Given the description of an element on the screen output the (x, y) to click on. 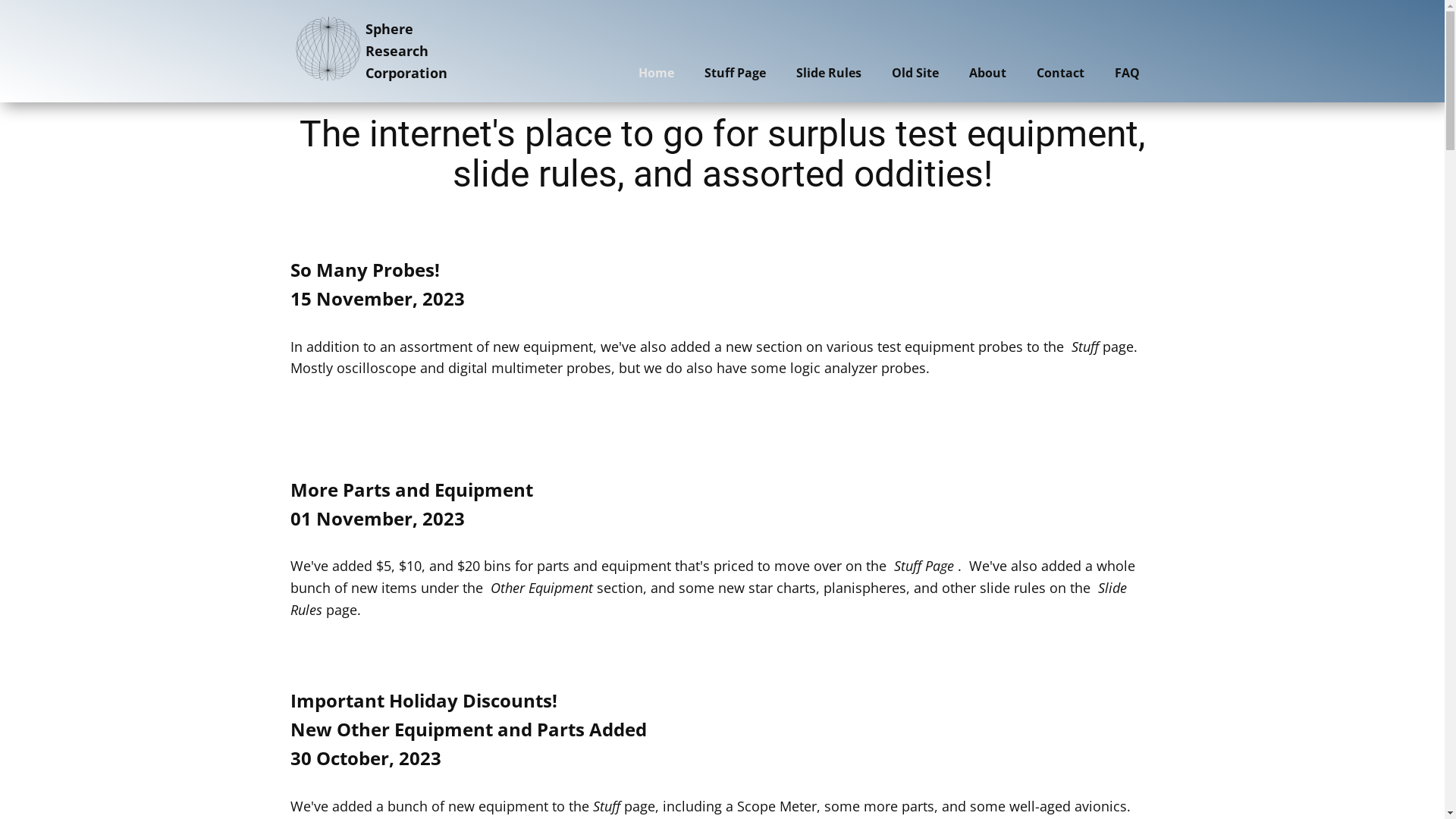
Stuff Page Element type: text (734, 72)
Old Site Element type: text (914, 72)
FAQ Element type: text (1126, 72)
Contact Element type: text (1059, 72)
About Element type: text (987, 72)
Home Element type: text (656, 72)
Slide Rules Element type: text (828, 72)
